Given the description of an element on the screen output the (x, y) to click on. 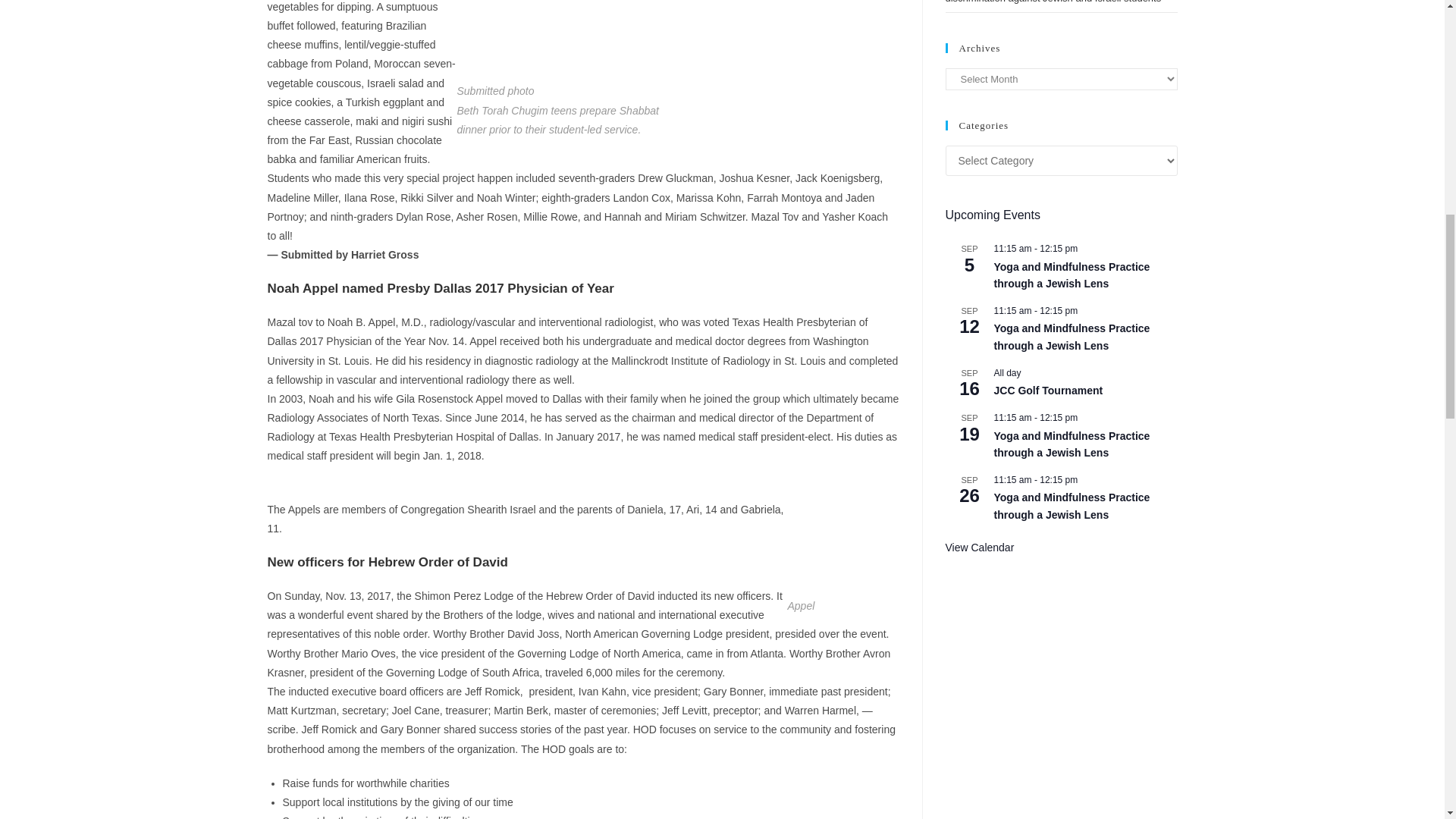
JCC Golf Tournament (1047, 390)
Yoga and Mindfulness Practice through a Jewish Lens (1071, 506)
Yoga and Mindfulness Practice through a Jewish Lens (1071, 276)
View more events. (978, 547)
Yoga and Mindfulness Practice through a Jewish Lens (1071, 337)
Yoga and Mindfulness Practice through a Jewish Lens (1071, 444)
